Given the description of an element on the screen output the (x, y) to click on. 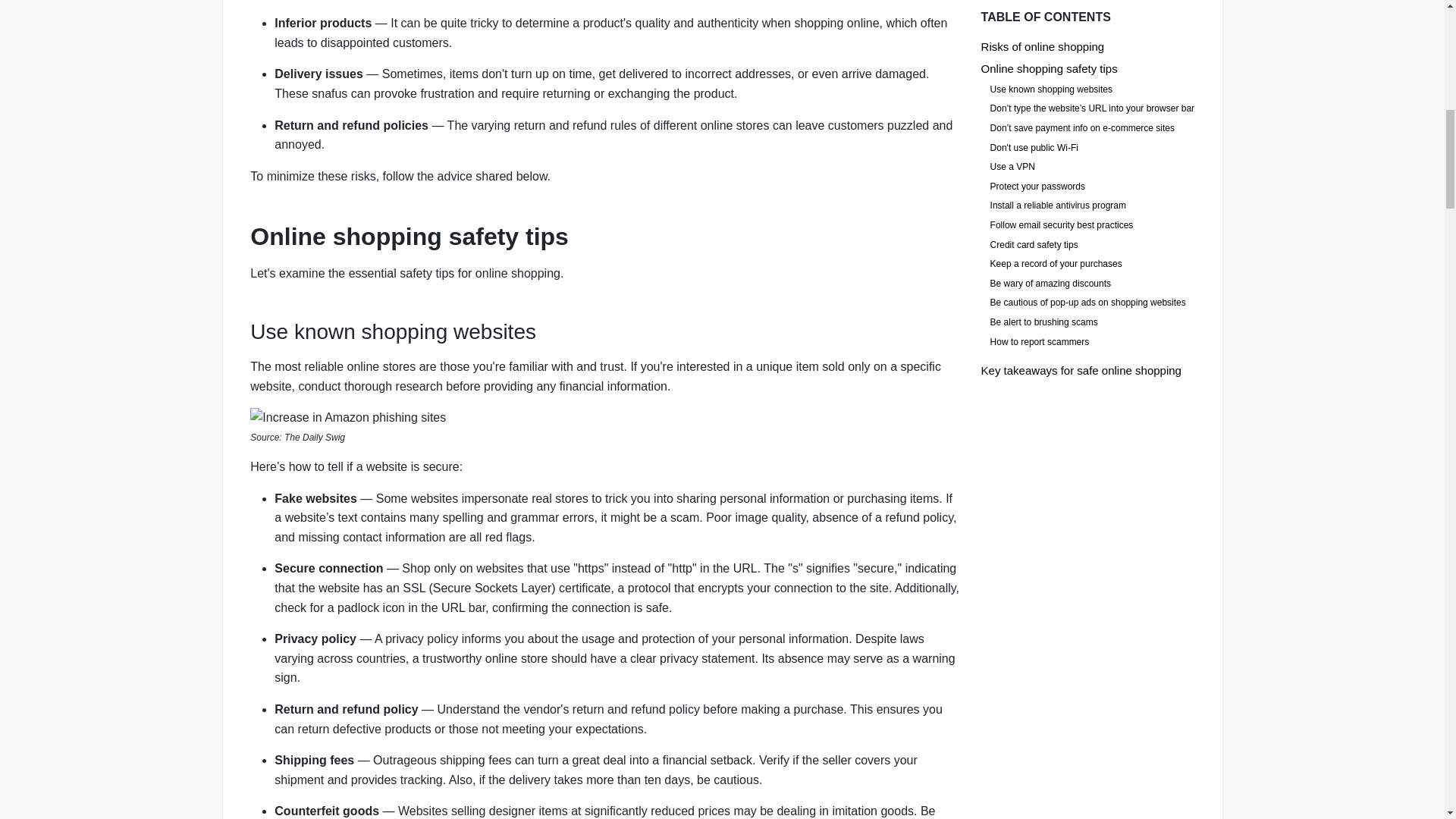
Increase in Amazon phishing sites (604, 417)
